Given the description of an element on the screen output the (x, y) to click on. 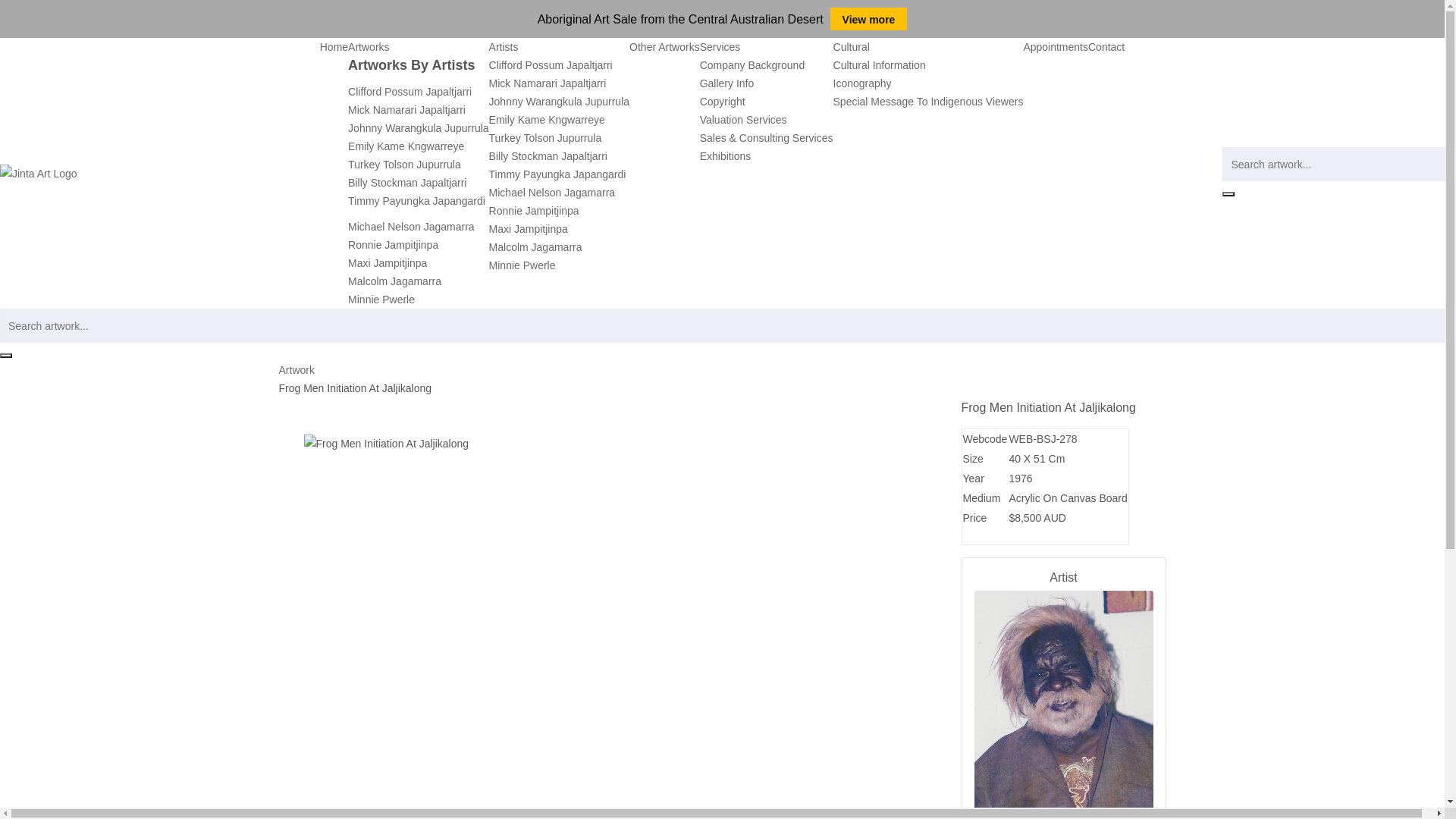
Home Element type: text (334, 46)
Cultural Information Element type: text (879, 65)
Special Message To Indigenous Viewers Element type: text (928, 101)
Ronnie Jampitjinpa Element type: text (534, 210)
Johnny Warangkula Jupurrula Element type: text (559, 101)
Maxi Jampitjinpa Element type: text (387, 263)
Johnny Warangkula Jupurrula Element type: text (418, 128)
Malcolm Jagamarra Element type: text (535, 247)
Emily Kame Kngwarreye Element type: text (406, 146)
Artists Element type: text (503, 46)
Timmy Payungka Japangardi Element type: text (557, 174)
Copyright Element type: text (722, 101)
Appointments Element type: text (1055, 46)
Billy Stockman Japaltjarri Element type: text (407, 182)
View more Element type: text (868, 18)
Artwork Element type: text (296, 370)
Mick Namarari Japaltjarri Element type: text (547, 83)
Exhibitions Element type: text (725, 156)
Artworks Element type: text (368, 46)
Michael Nelson Jagamarra Element type: text (552, 192)
Other Artworks Element type: text (664, 46)
Ronnie Jampitjinpa Element type: text (393, 244)
Maxi Jampitjinpa Element type: text (528, 228)
Clifford Possum Japaltjarri Element type: text (550, 65)
Company Background Element type: text (752, 65)
Emily Kame Kngwarreye Element type: text (547, 119)
Malcolm Jagamarra Element type: text (394, 281)
Gallery Info Element type: text (726, 83)
Contact Element type: text (1106, 46)
Clifford Possum Japaltjarri Element type: text (409, 91)
Services Element type: text (719, 46)
Minnie Pwerle Element type: text (381, 299)
Iconography Element type: text (862, 83)
Cultural Element type: text (851, 46)
Michael Nelson Jagamarra Element type: text (411, 226)
Billy Stockman Japaltjarri Element type: text (548, 156)
Turkey Tolson Jupurrula Element type: text (404, 164)
Turkey Tolson Jupurrula Element type: text (545, 137)
Sales & Consulting Services Element type: text (766, 137)
Mick Namarari Japaltjarri Element type: text (406, 109)
Timmy Payungka Japangardi Element type: text (416, 200)
Valuation Services Element type: text (743, 119)
Minnie Pwerle Element type: text (522, 265)
